Given the description of an element on the screen output the (x, y) to click on. 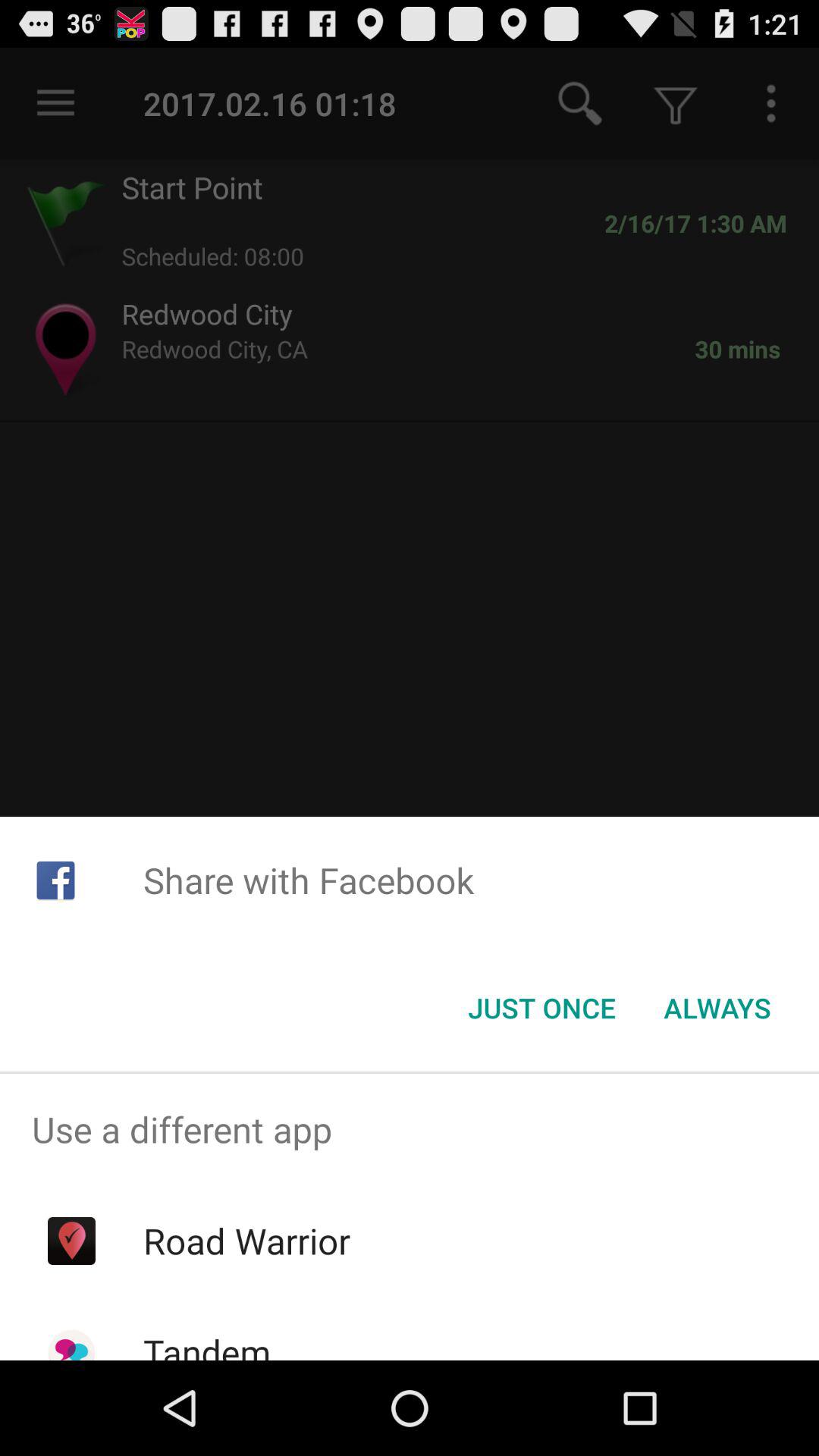
open the item above the road warrior (409, 1129)
